Given the description of an element on the screen output the (x, y) to click on. 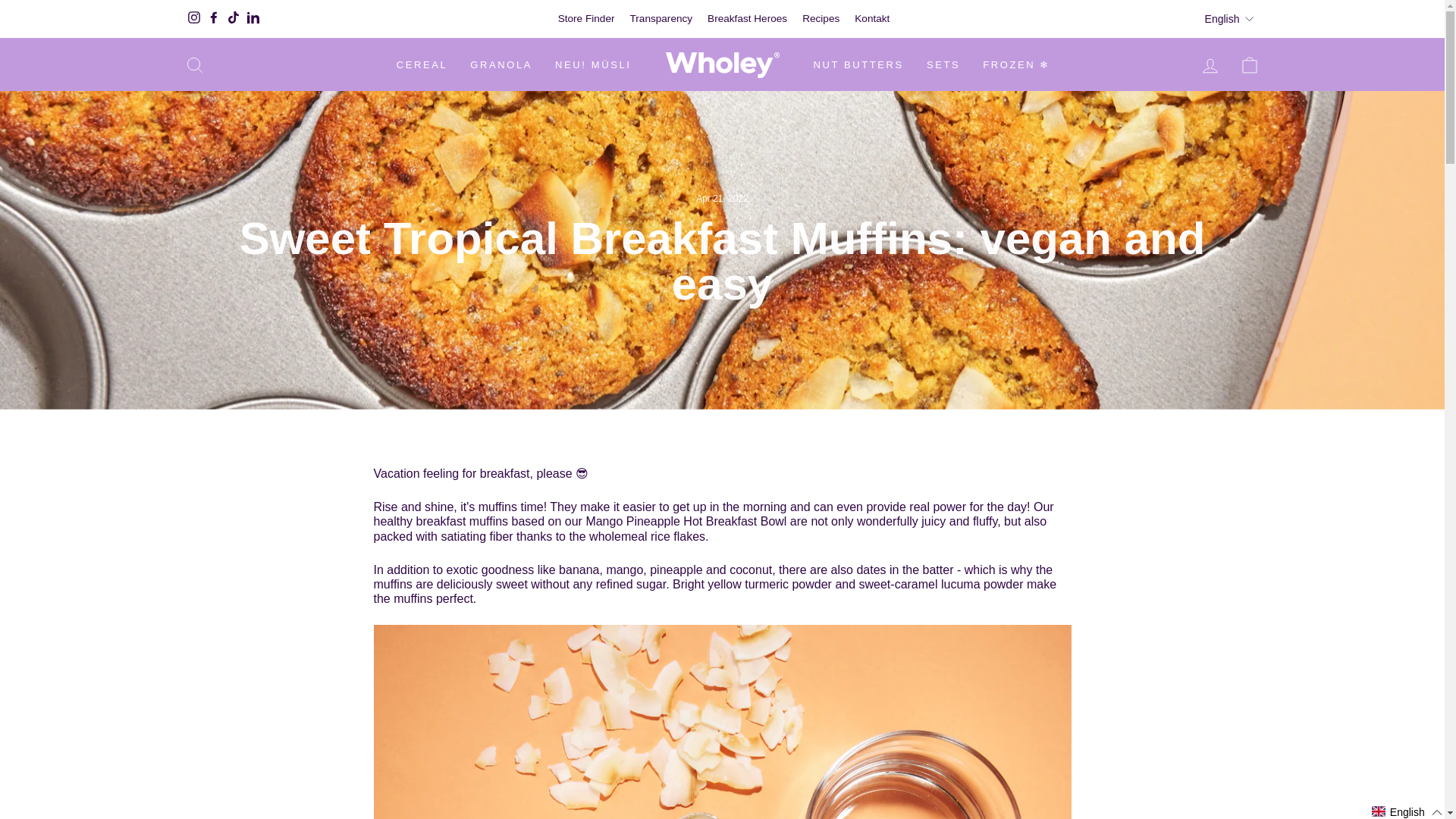
Instagram (193, 18)
English (1229, 18)
SEARCH (194, 64)
Wholey Organics on LinkedIn (252, 18)
Store Finder (586, 18)
Wholey Organics on TikTok (232, 18)
CEREAL (422, 64)
Facebook (212, 18)
Kontakt (871, 18)
Recipes (820, 18)
TikTok (232, 18)
Wholey Organics on Facebook (212, 18)
Breakfast Heroes (747, 18)
LinkedIn (252, 18)
Transparency (660, 18)
